Given the description of an element on the screen output the (x, y) to click on. 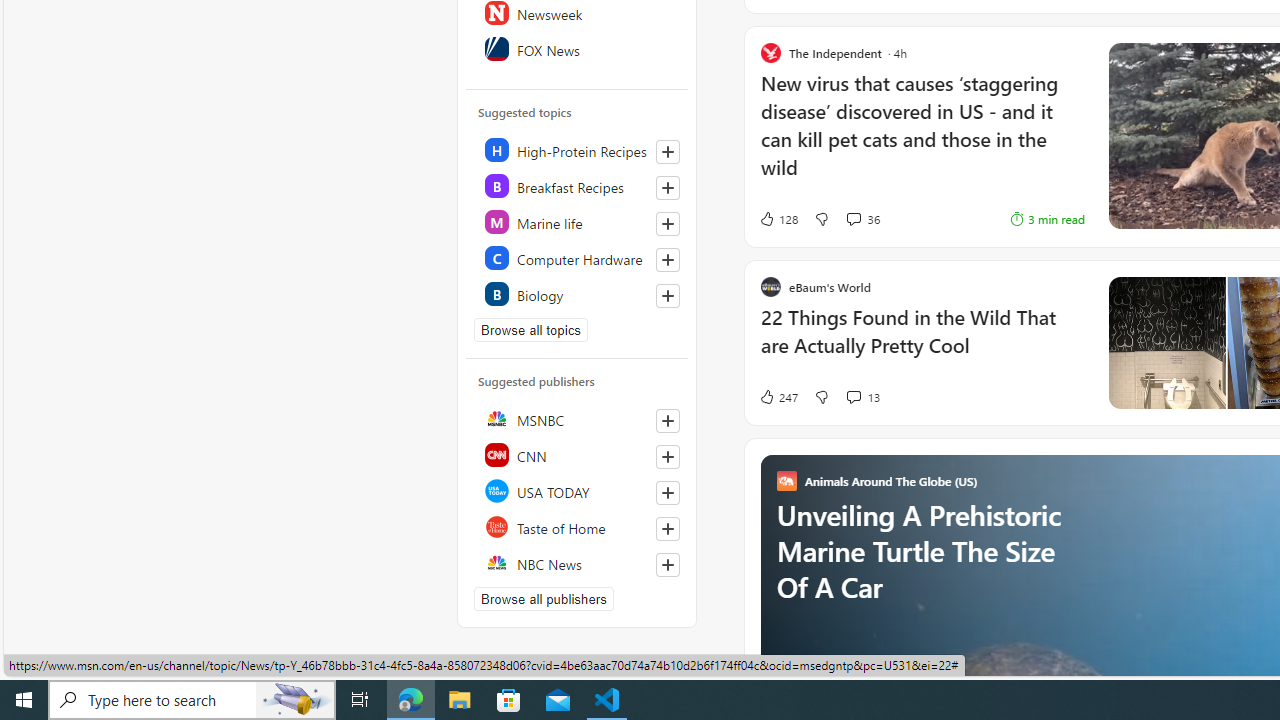
Browse all topics (530, 330)
22 Things Found in the Wild That are Actually Pretty Cool (922, 341)
Follow this source (667, 564)
CNN (578, 454)
247 Like (778, 396)
View comments 36 Comment (862, 219)
